Given the description of an element on the screen output the (x, y) to click on. 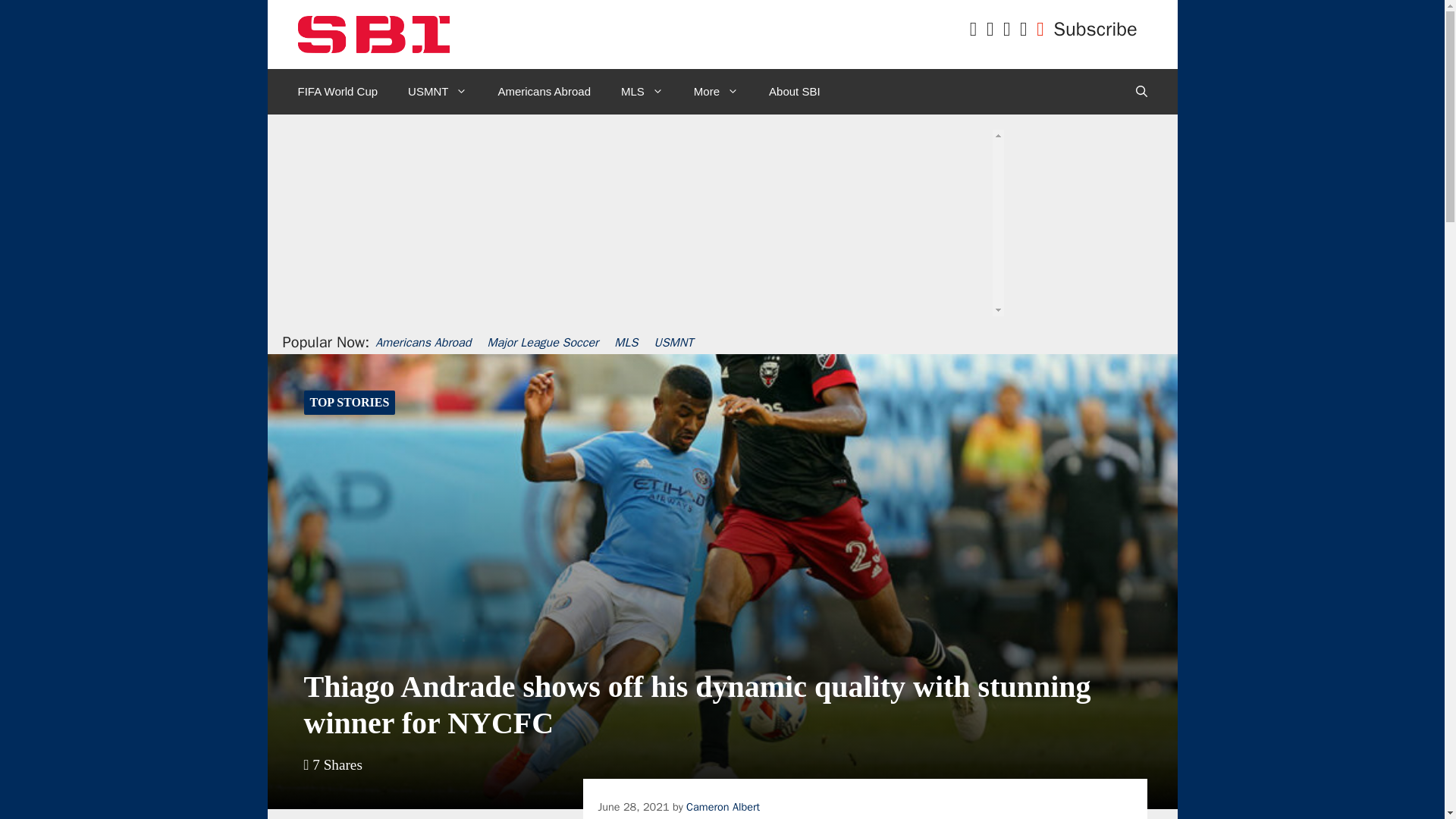
USMNT (437, 91)
MLS (641, 91)
View all posts by Cameron Albert (722, 807)
FIFA World Cup (337, 91)
Advertisement (716, 256)
Subscribe (1094, 28)
Americans Abroad (543, 91)
